Given the description of an element on the screen output the (x, y) to click on. 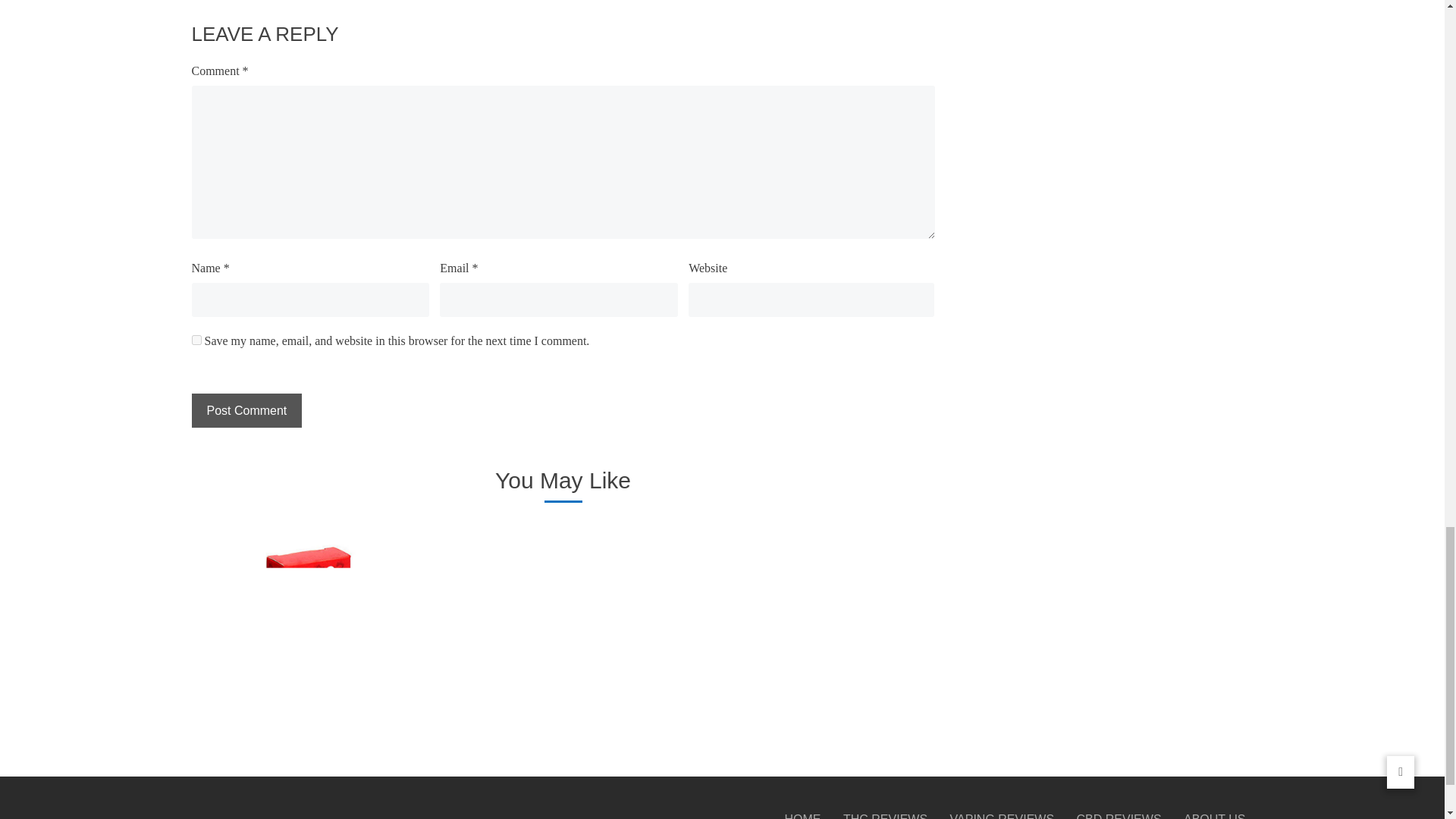
Post Comment (245, 410)
VAPING REVIEWS (1002, 814)
ABOUT US (1214, 814)
CBD REVIEWS (1119, 814)
THC REVIEWS (885, 814)
yes (195, 339)
HOME (802, 814)
Post Comment (245, 410)
